Given the description of an element on the screen output the (x, y) to click on. 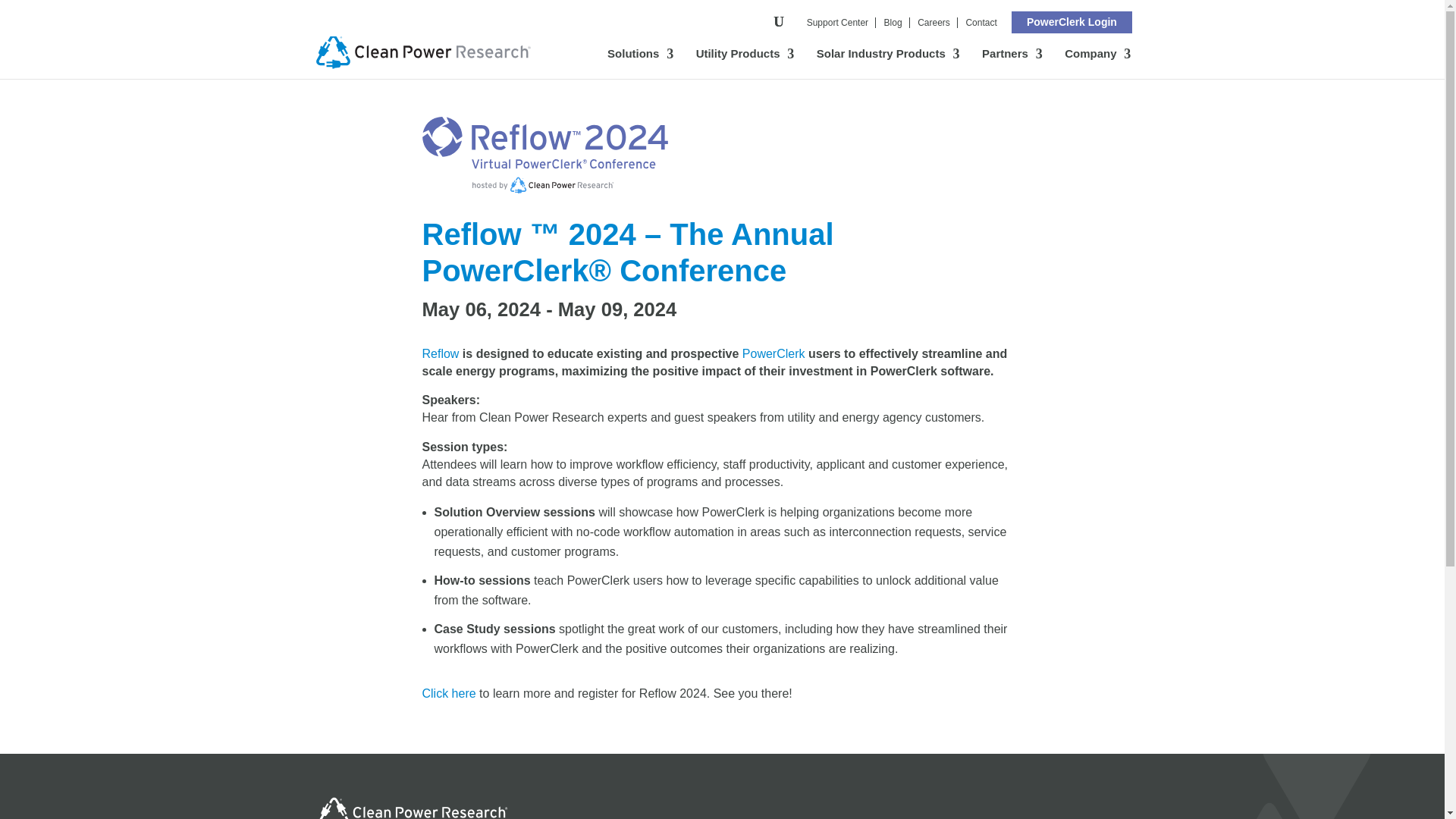
Blog (892, 22)
Partners (1012, 63)
Solutions (640, 63)
Support Center (836, 22)
Solar Industry Products (888, 63)
Careers (933, 22)
PowerClerk Login (1071, 22)
Utility Products (744, 63)
Company (1097, 63)
Contact (980, 22)
